Given the description of an element on the screen output the (x, y) to click on. 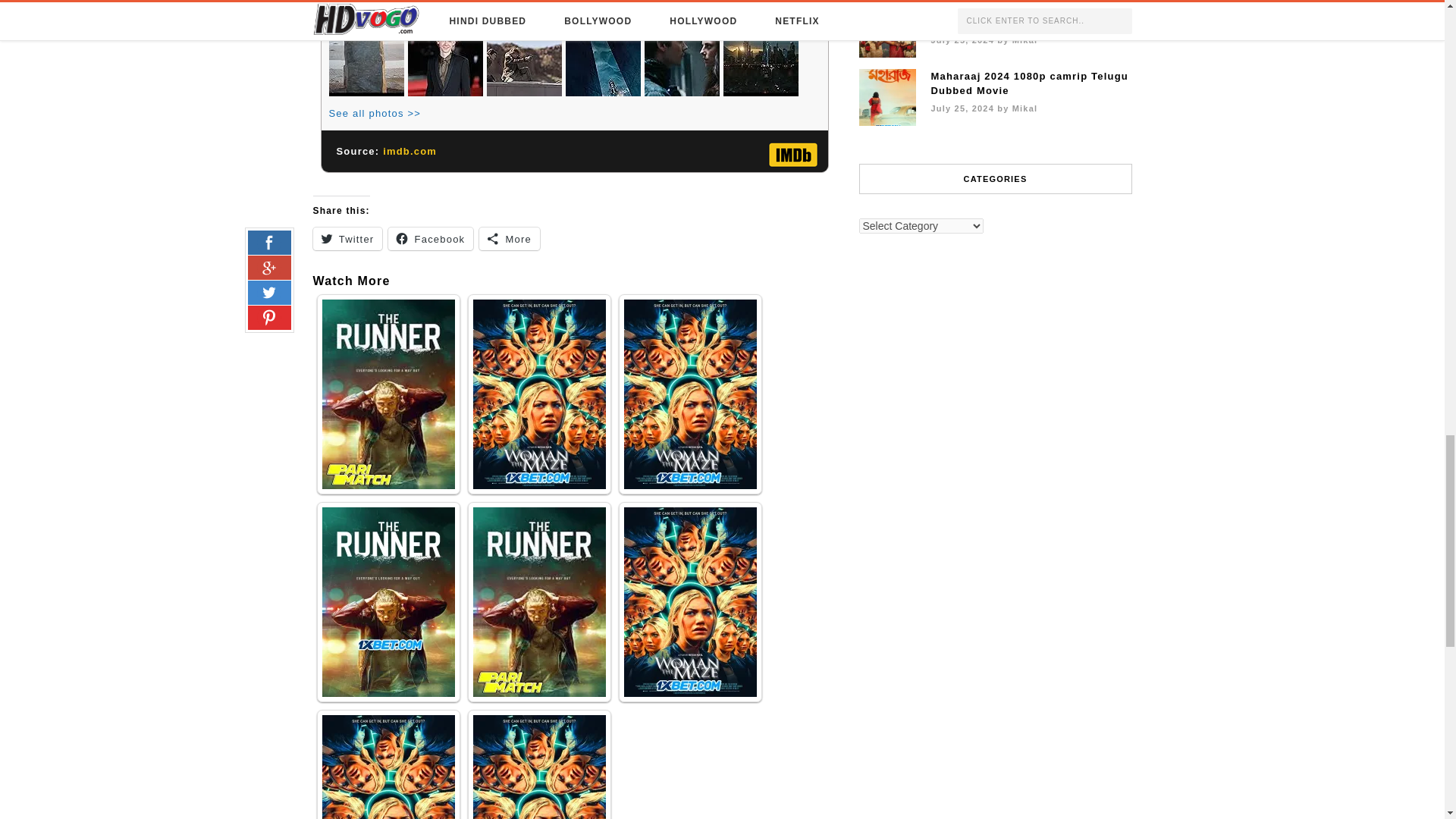
More (509, 238)
imdb.com (409, 151)
Click to share on Facebook (430, 238)
Click to share on Twitter (347, 238)
Twitter (347, 238)
Facebook (430, 238)
